Given the description of an element on the screen output the (x, y) to click on. 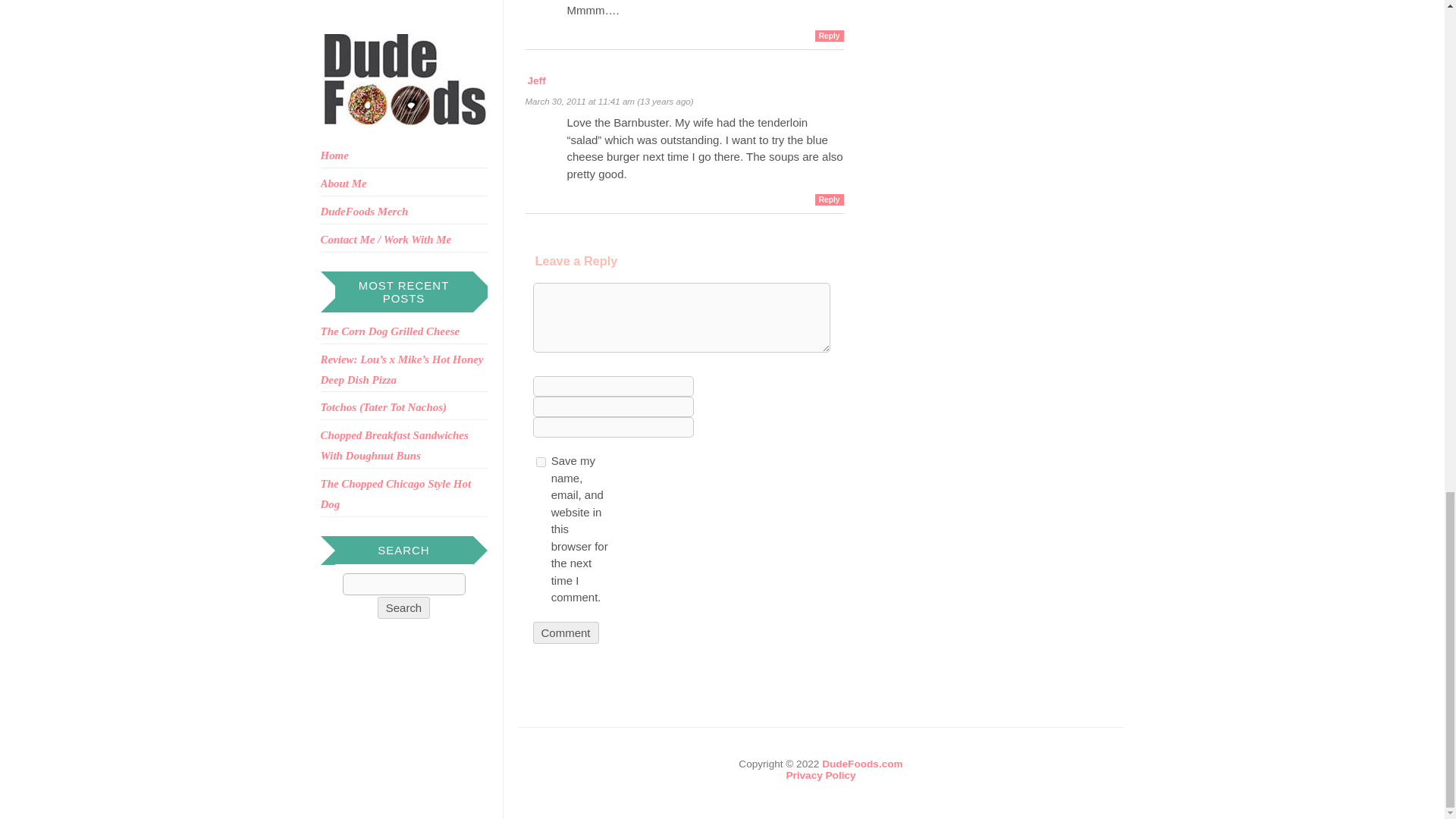
Jeff (536, 80)
Comment (565, 632)
yes (539, 461)
Comment (565, 632)
Reply (829, 35)
Reply (829, 199)
DudeFoods.com (862, 763)
Privacy Policy (821, 775)
